Given the description of an element on the screen output the (x, y) to click on. 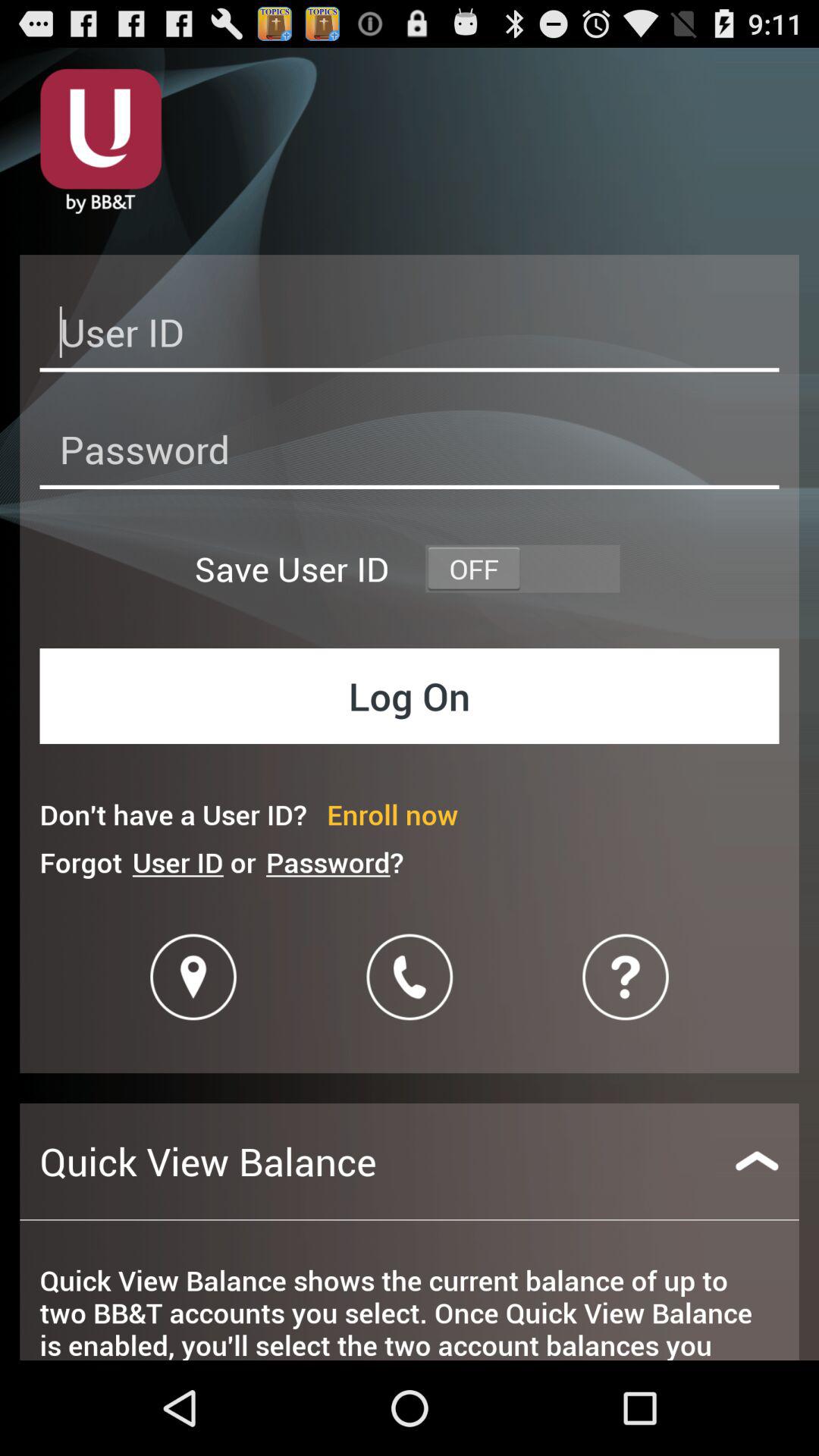
choose the item next to don t have (392, 814)
